Given the description of an element on the screen output the (x, y) to click on. 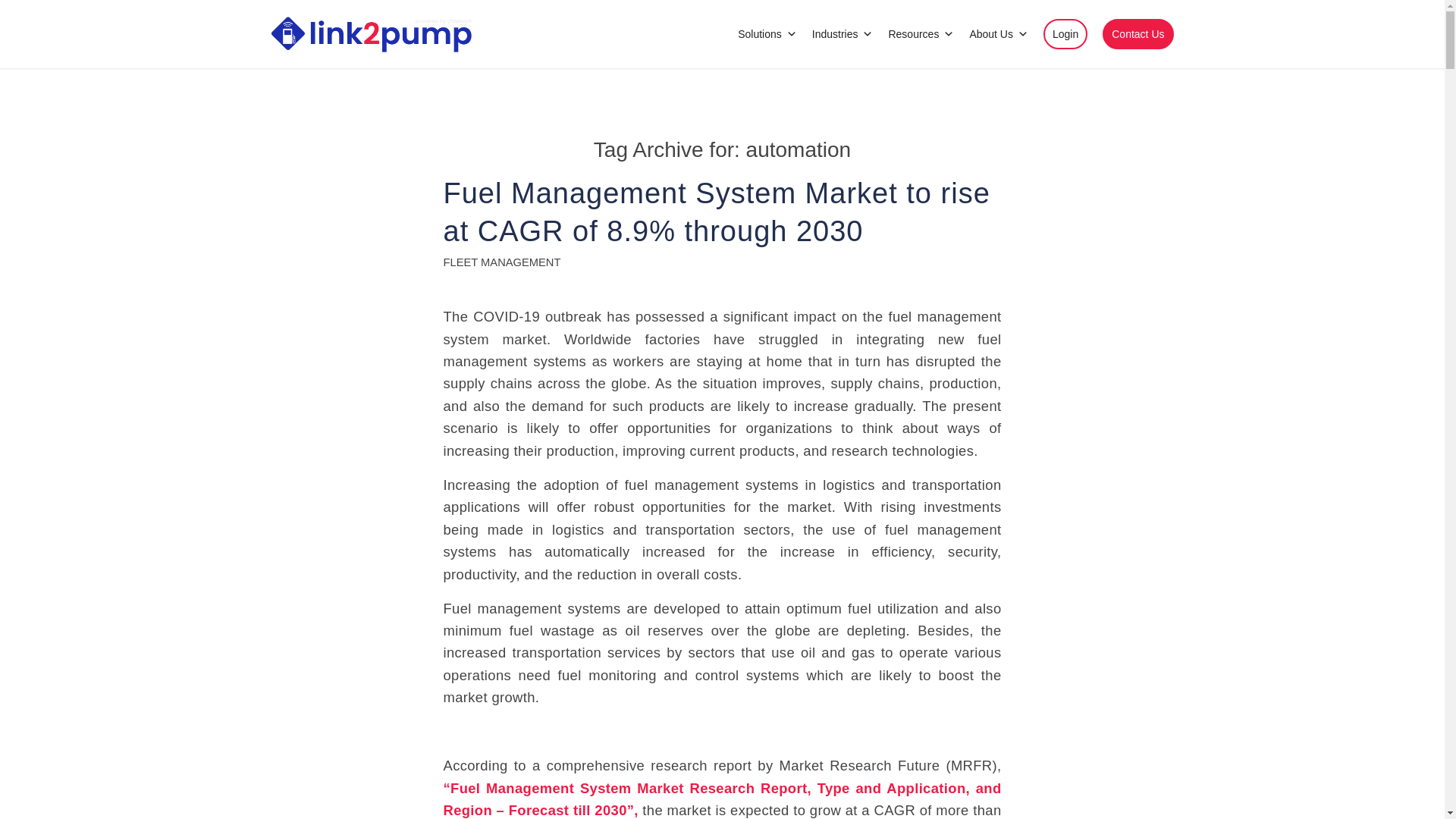
Resources (920, 33)
About Us (997, 33)
Industries (842, 33)
Contact Us (1137, 33)
FLEET MANAGEMENT (501, 262)
Login (1065, 33)
Solutions (767, 33)
